Given the description of an element on the screen output the (x, y) to click on. 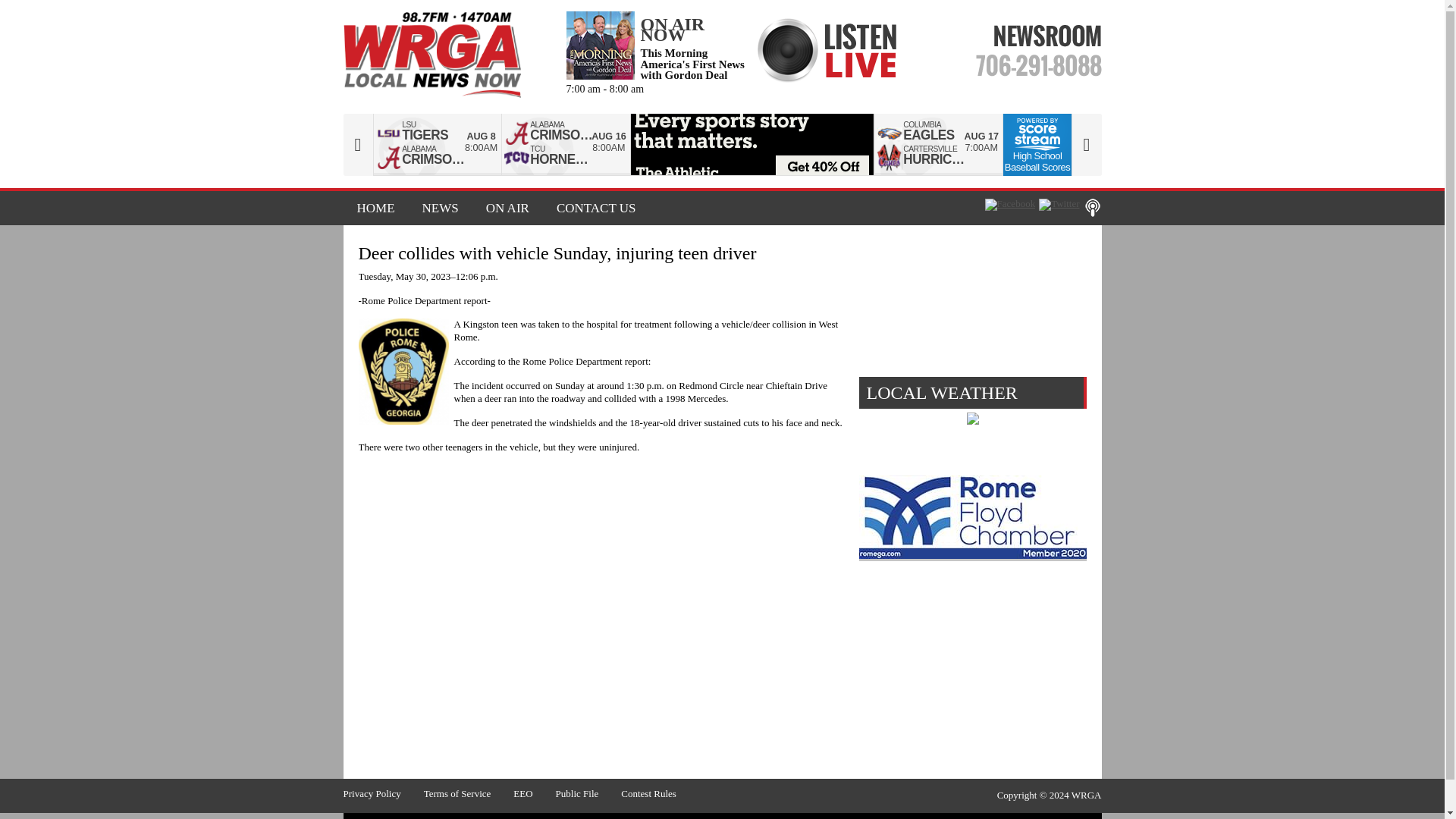
ON AIR (507, 207)
EEO (533, 792)
Twitter (1058, 204)
Facebook (1010, 204)
Podcasts (1091, 208)
Terms of Service (468, 792)
NEWS (440, 207)
Privacy Policy (382, 792)
HOME (374, 207)
CONTACT US (589, 207)
Public File (588, 792)
Contest Rules (659, 792)
